Given the description of an element on the screen output the (x, y) to click on. 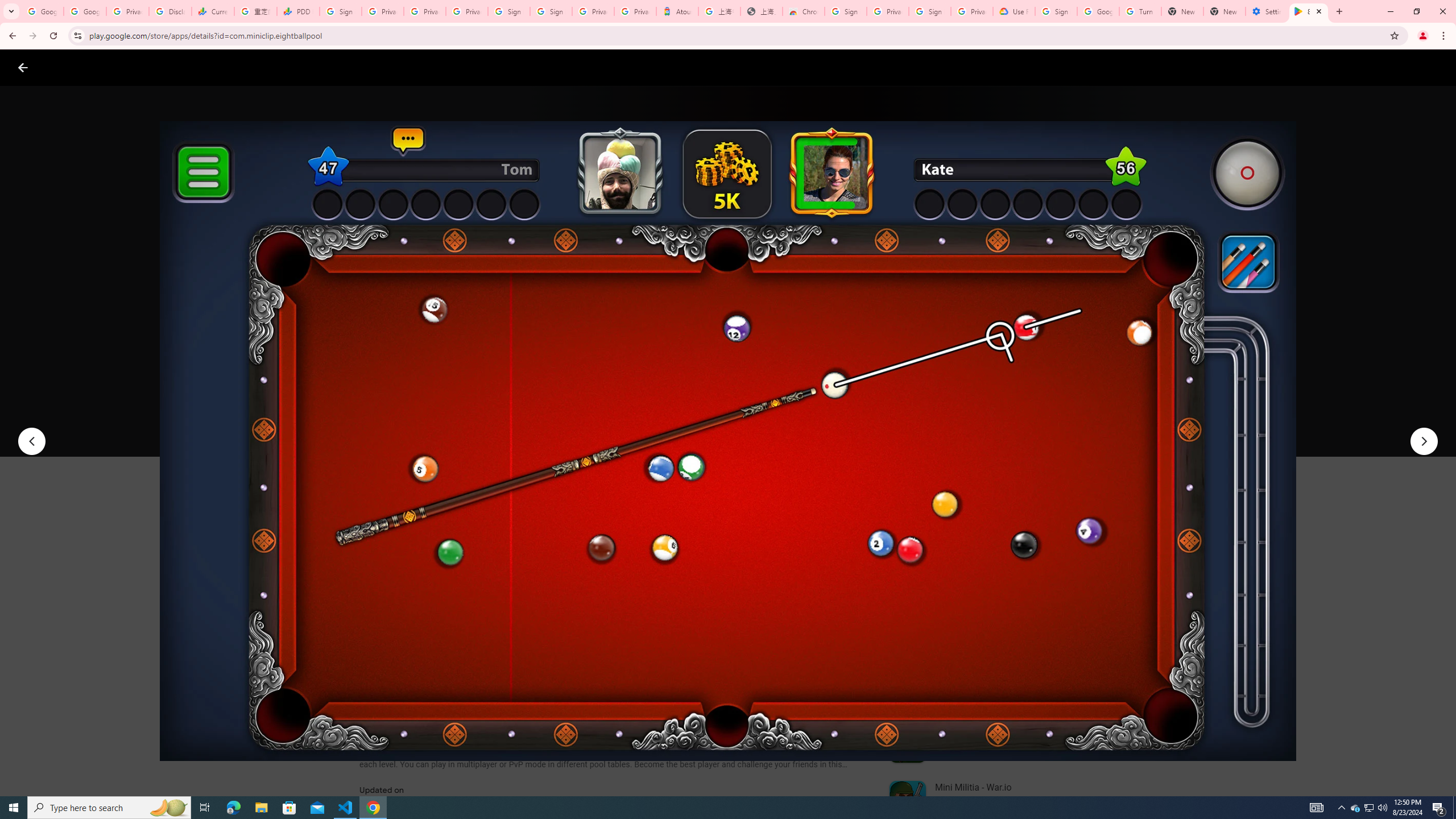
Turn cookies on or off - Computer - Google Account Help (1139, 11)
Google Workspace Admin Community (42, 11)
New Tab (1224, 11)
Privacy Checkup (424, 11)
Kids (219, 67)
